Given the description of an element on the screen output the (x, y) to click on. 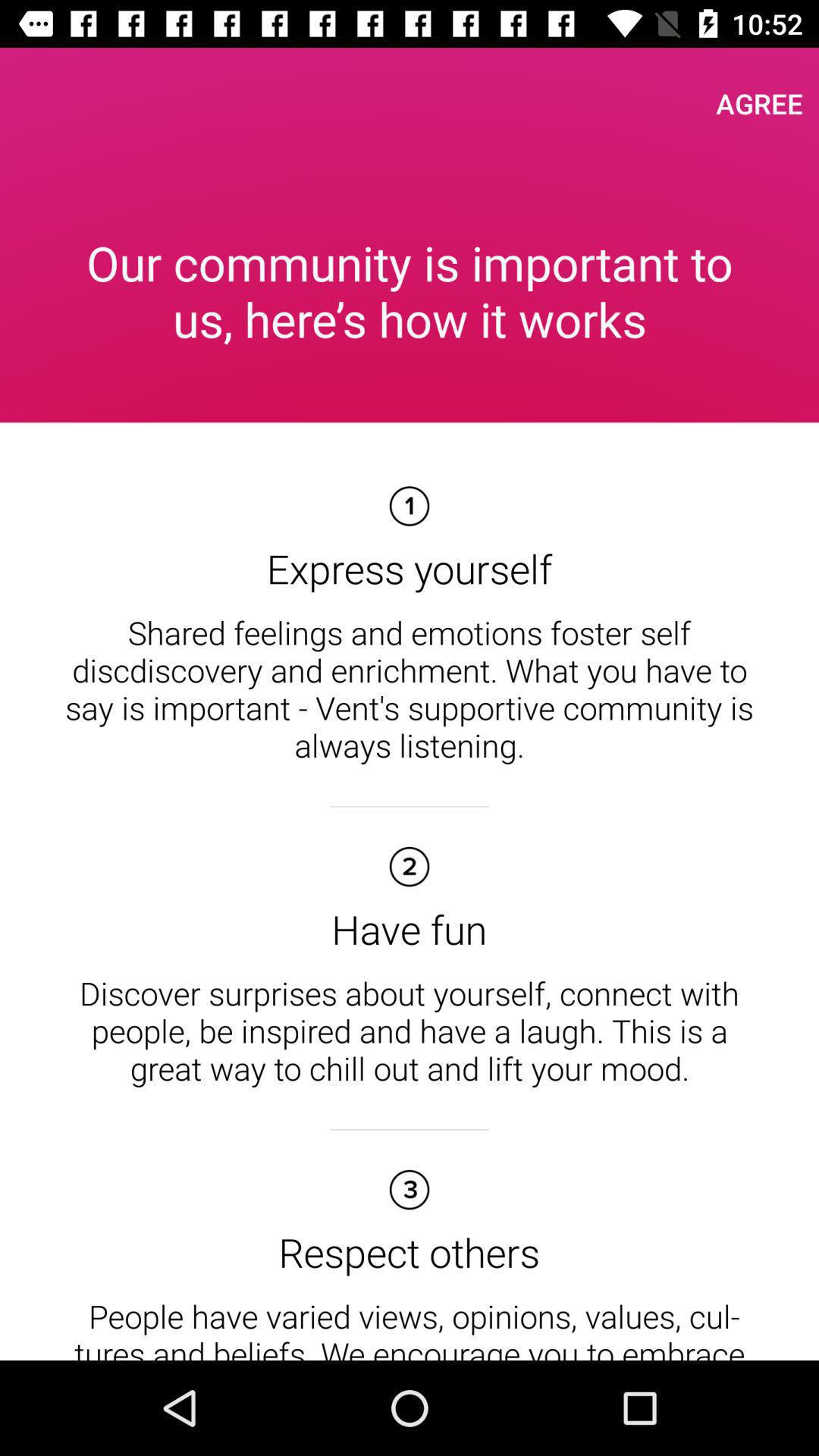
choose icon at the top right corner (759, 103)
